Given the description of an element on the screen output the (x, y) to click on. 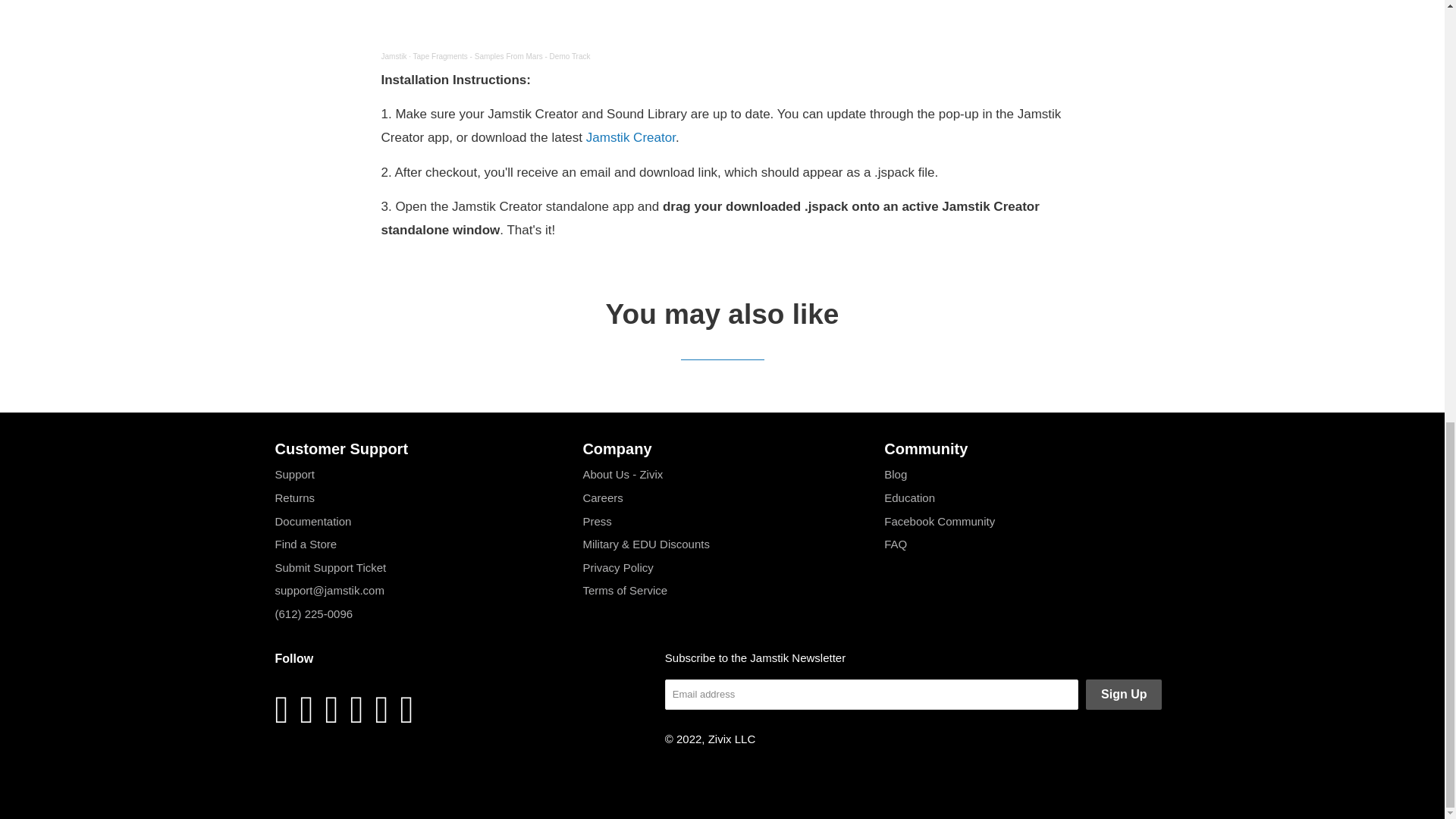
Jamstik (393, 56)
Sign Up (1123, 694)
Tape Fragments - Samples From Mars - Demo Track (502, 56)
